Given the description of an element on the screen output the (x, y) to click on. 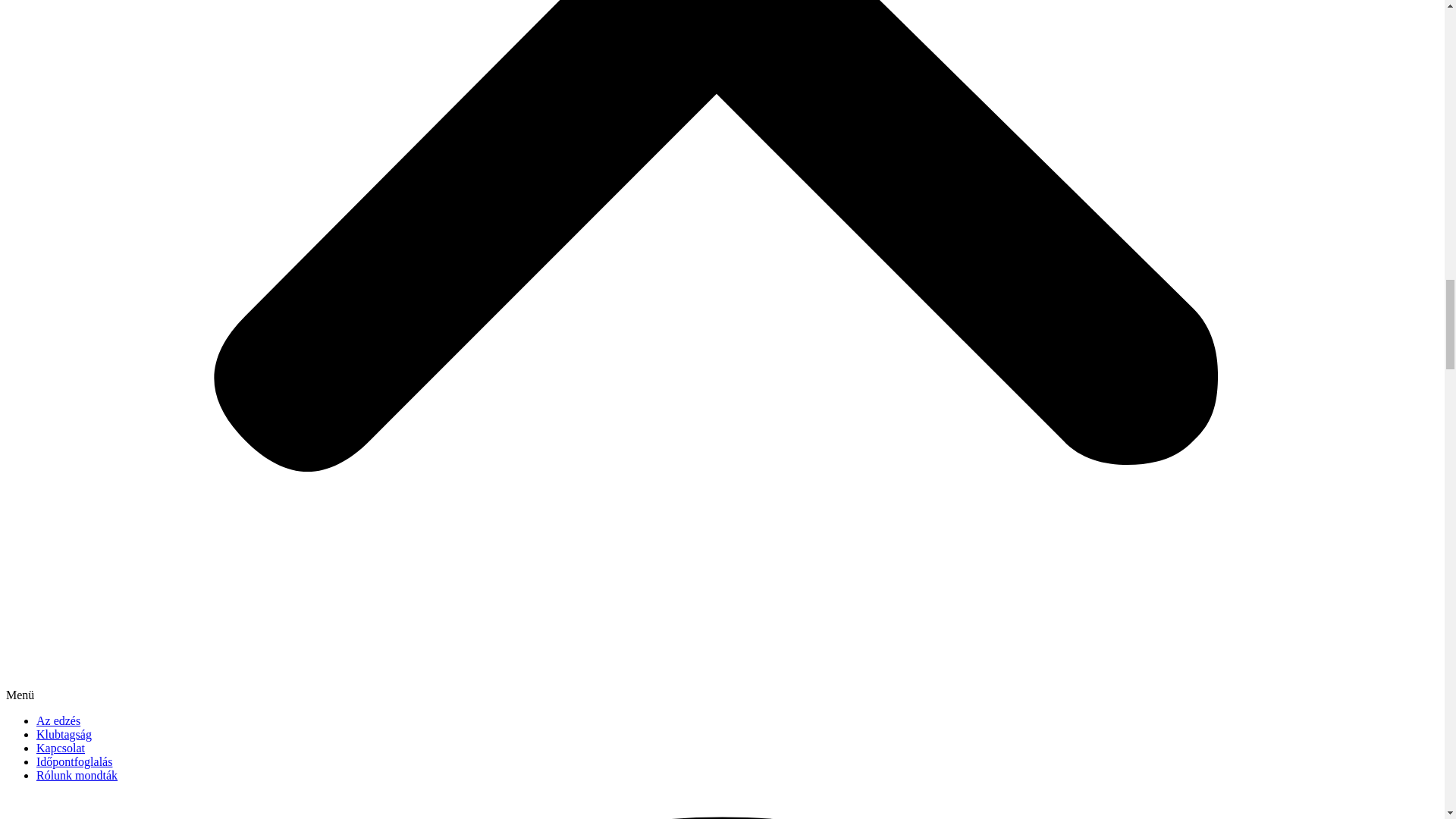
Kapcsolat (60, 748)
